Given the description of an element on the screen output the (x, y) to click on. 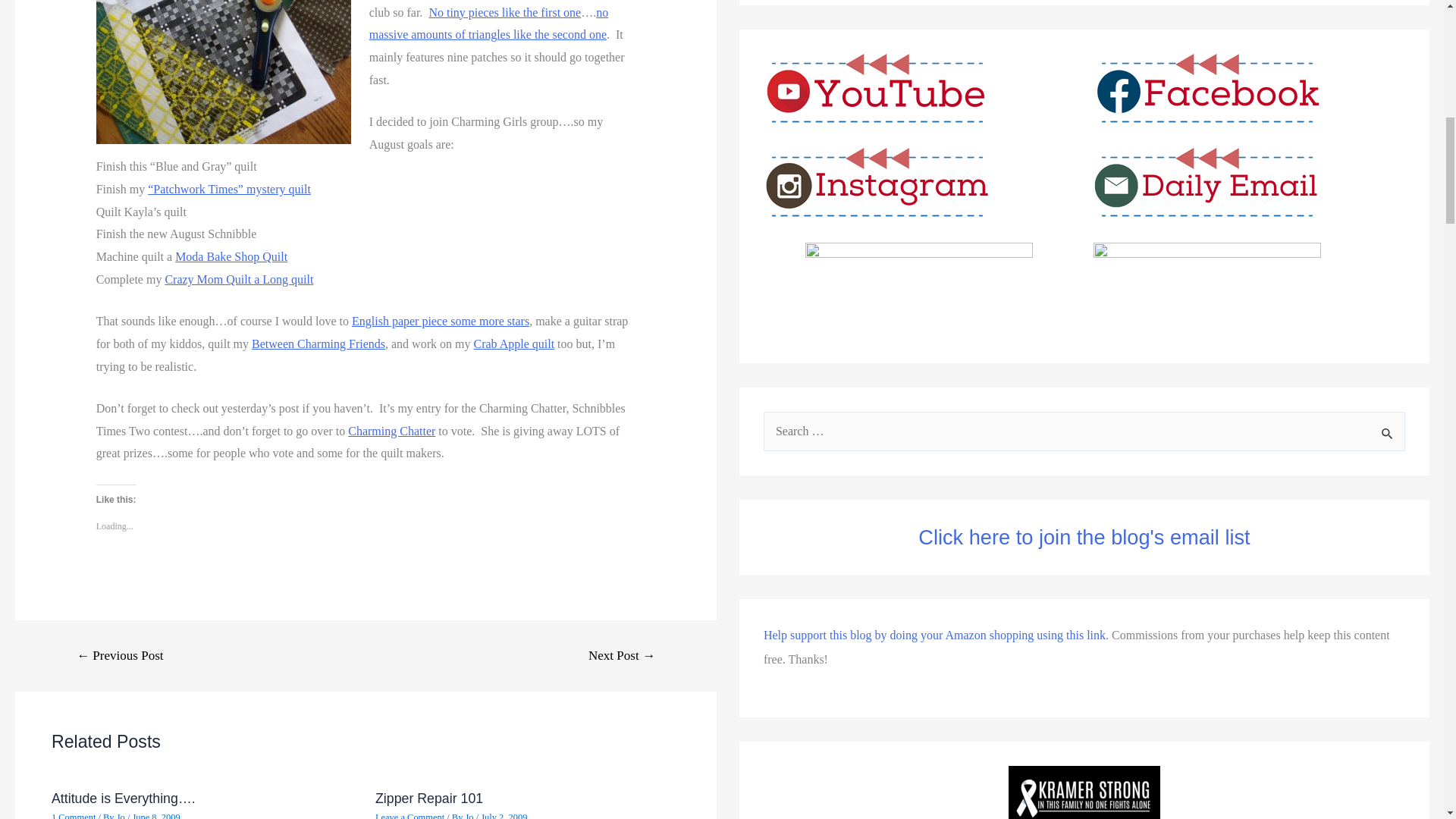
View all posts by Jo (122, 815)
View all posts by Jo (470, 815)
WhatWorkingOn (223, 72)
